Given the description of an element on the screen output the (x, y) to click on. 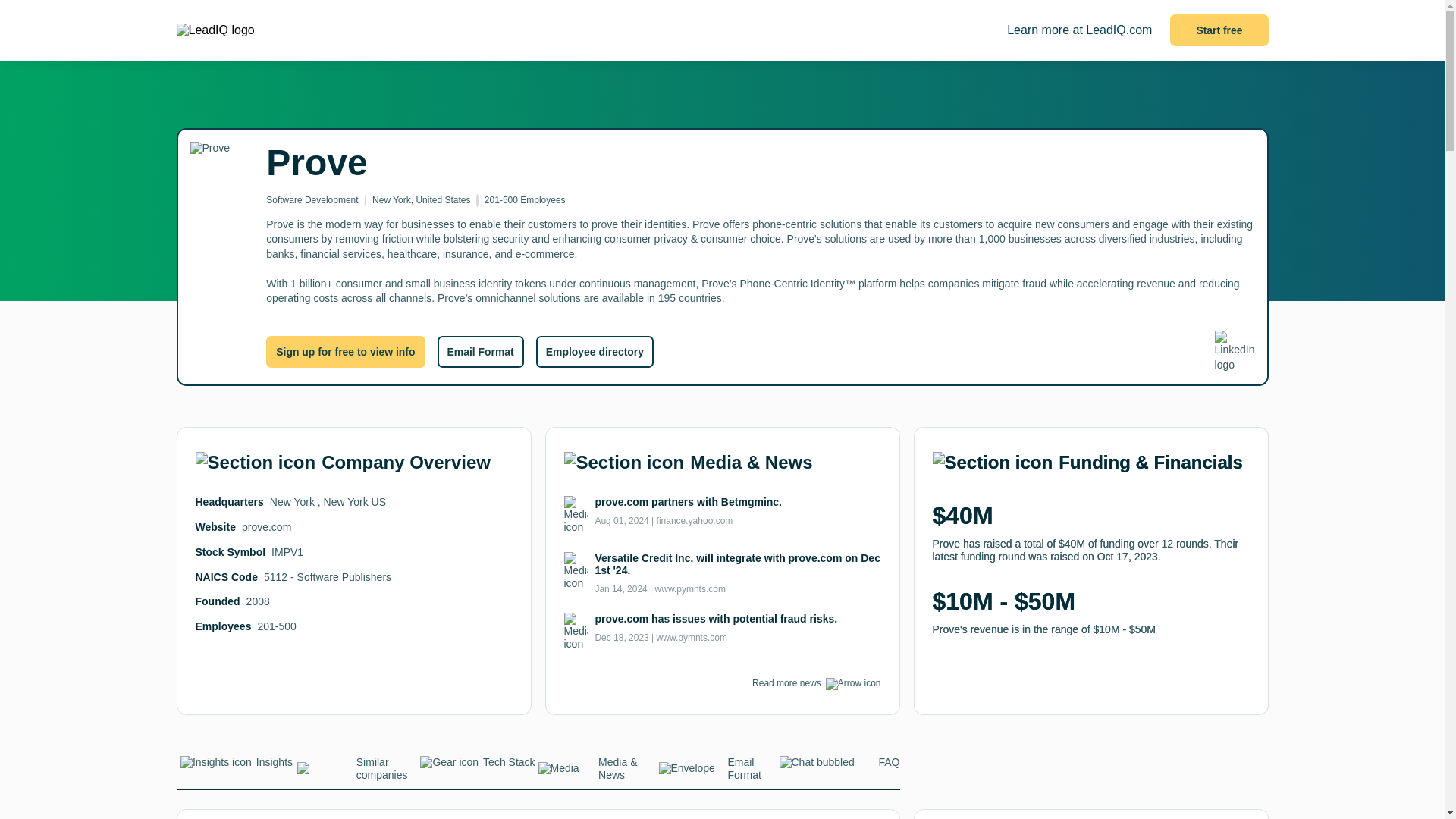
Insights (236, 766)
Email Format (718, 772)
Similar companies (357, 772)
Email Format (479, 351)
Sign up for free to view info (345, 351)
FAQ (838, 766)
Start free (1219, 29)
Tech Stack (476, 766)
Learn more at LeadIQ.com (1079, 29)
Employee directory (594, 351)
